Given the description of an element on the screen output the (x, y) to click on. 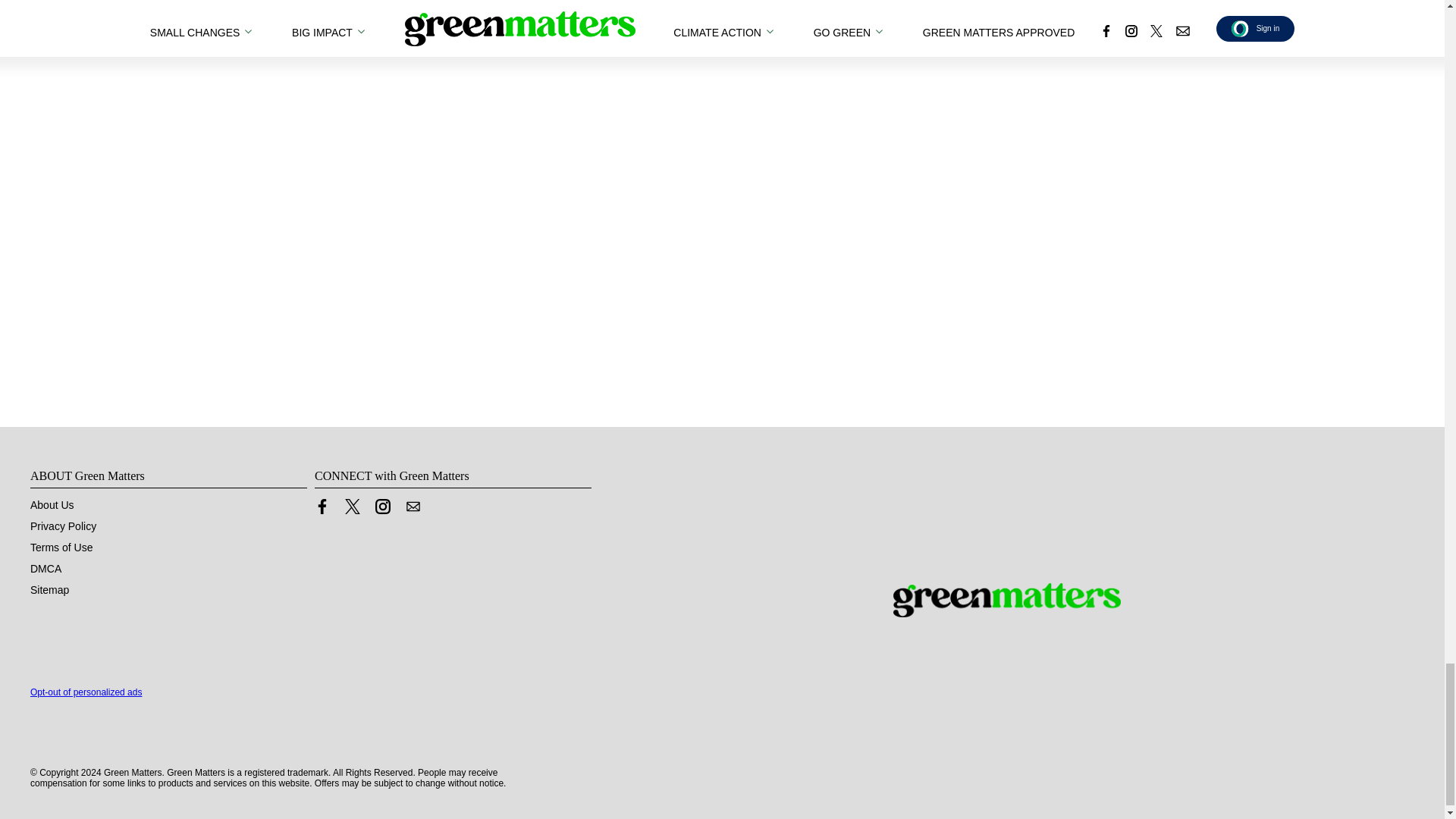
Link to X (352, 505)
Link to Facebook (322, 505)
Sitemap (49, 589)
Privacy Policy (63, 525)
Link to Instagram (382, 505)
Contact us by Email (413, 505)
Terms of Use (61, 546)
About Us (52, 503)
DMCA (45, 567)
